Given the description of an element on the screen output the (x, y) to click on. 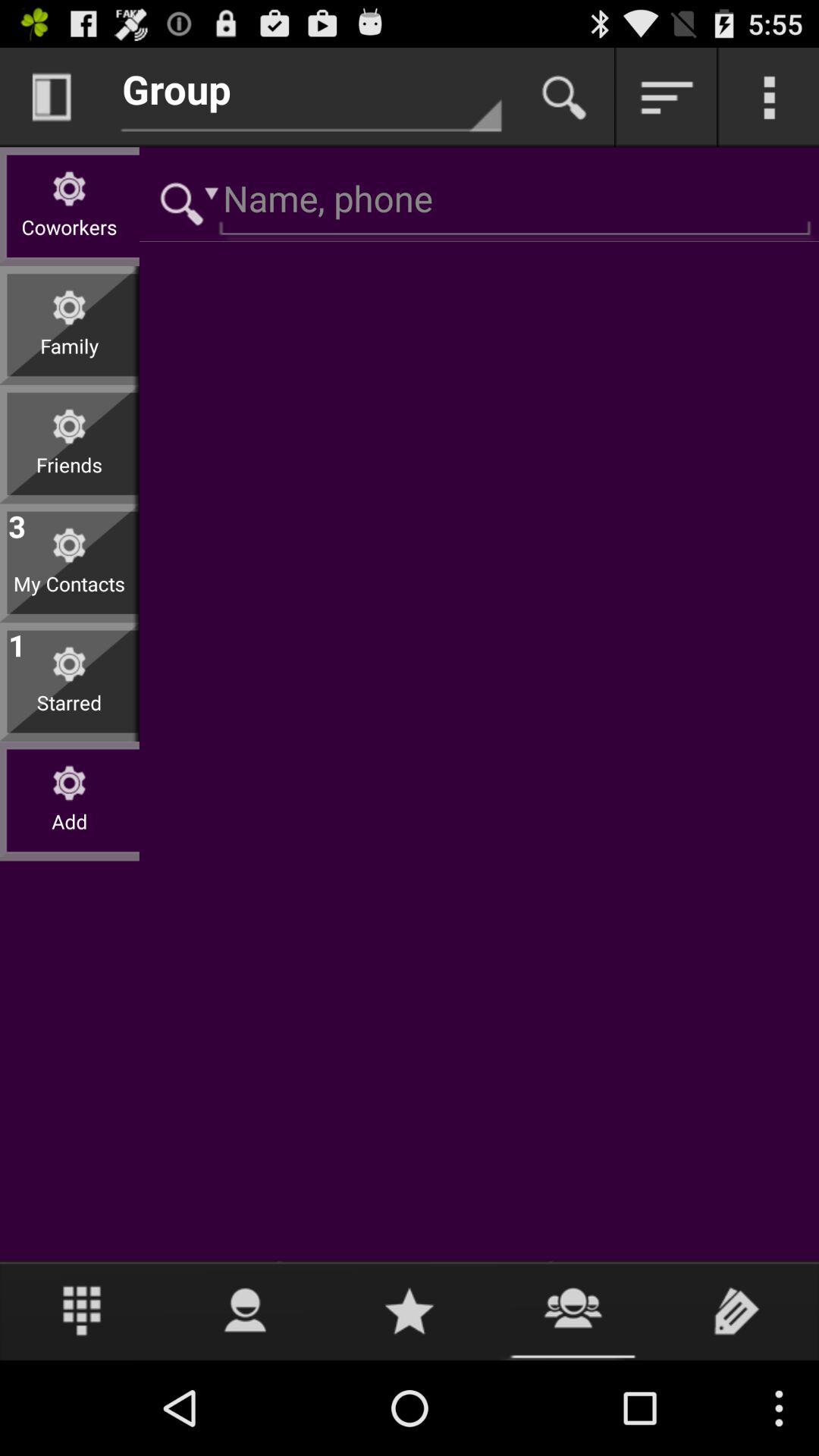
turn on item below add icon (81, 1310)
